Given the description of an element on the screen output the (x, y) to click on. 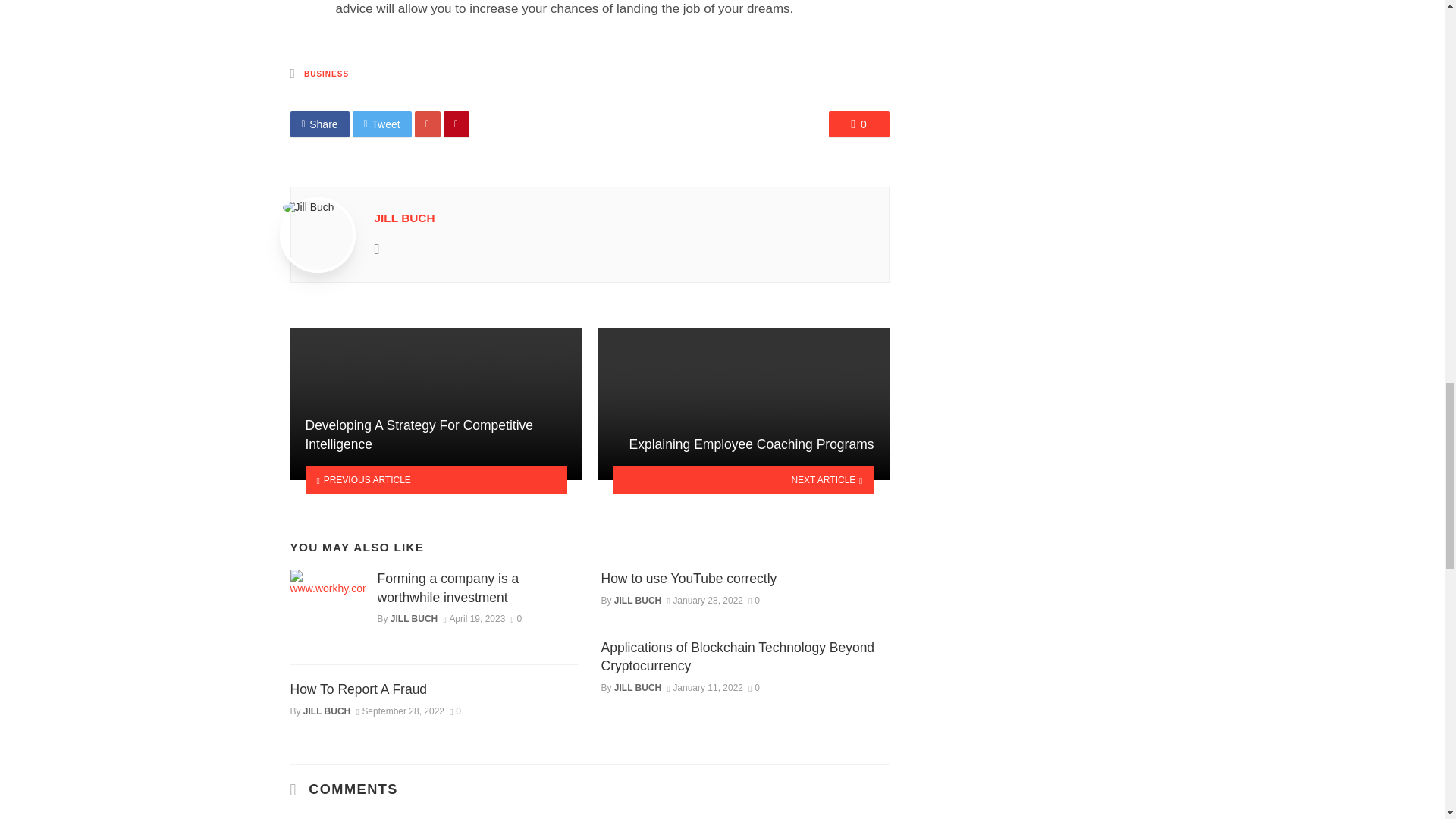
BUSINESS (326, 74)
Share on Twitter (382, 124)
NEXT ARTICLE (742, 480)
JILL BUCH (404, 217)
Share on Pinterest (456, 124)
Share on Facebook (319, 124)
PREVIOUS ARTICLE (434, 480)
Share (319, 124)
0 Comments (858, 124)
Tweet (382, 124)
